Given the description of an element on the screen output the (x, y) to click on. 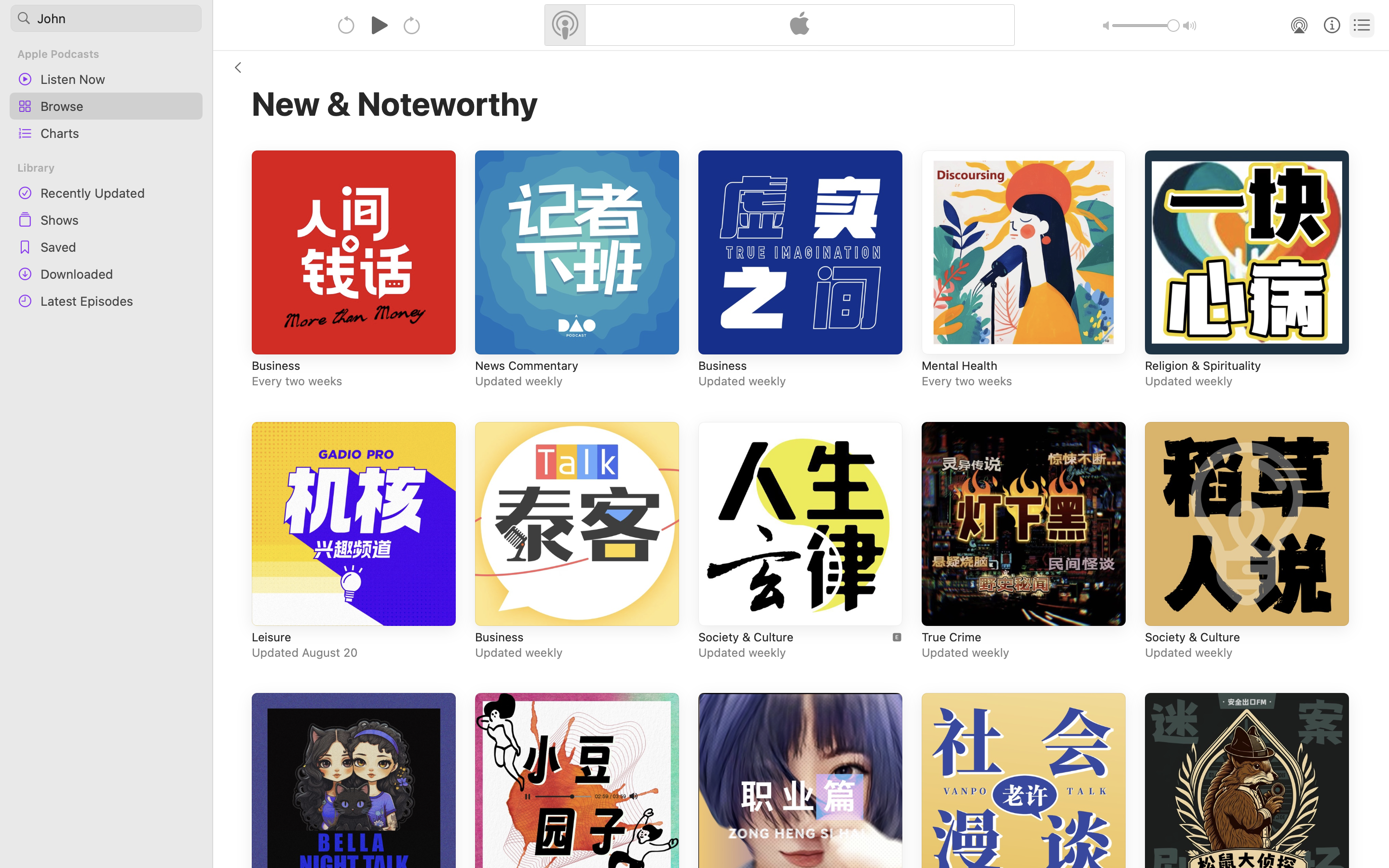
1.0 Element type: AXSlider (1145, 25)
John Element type: AXTextField (105, 17)
